Given the description of an element on the screen output the (x, y) to click on. 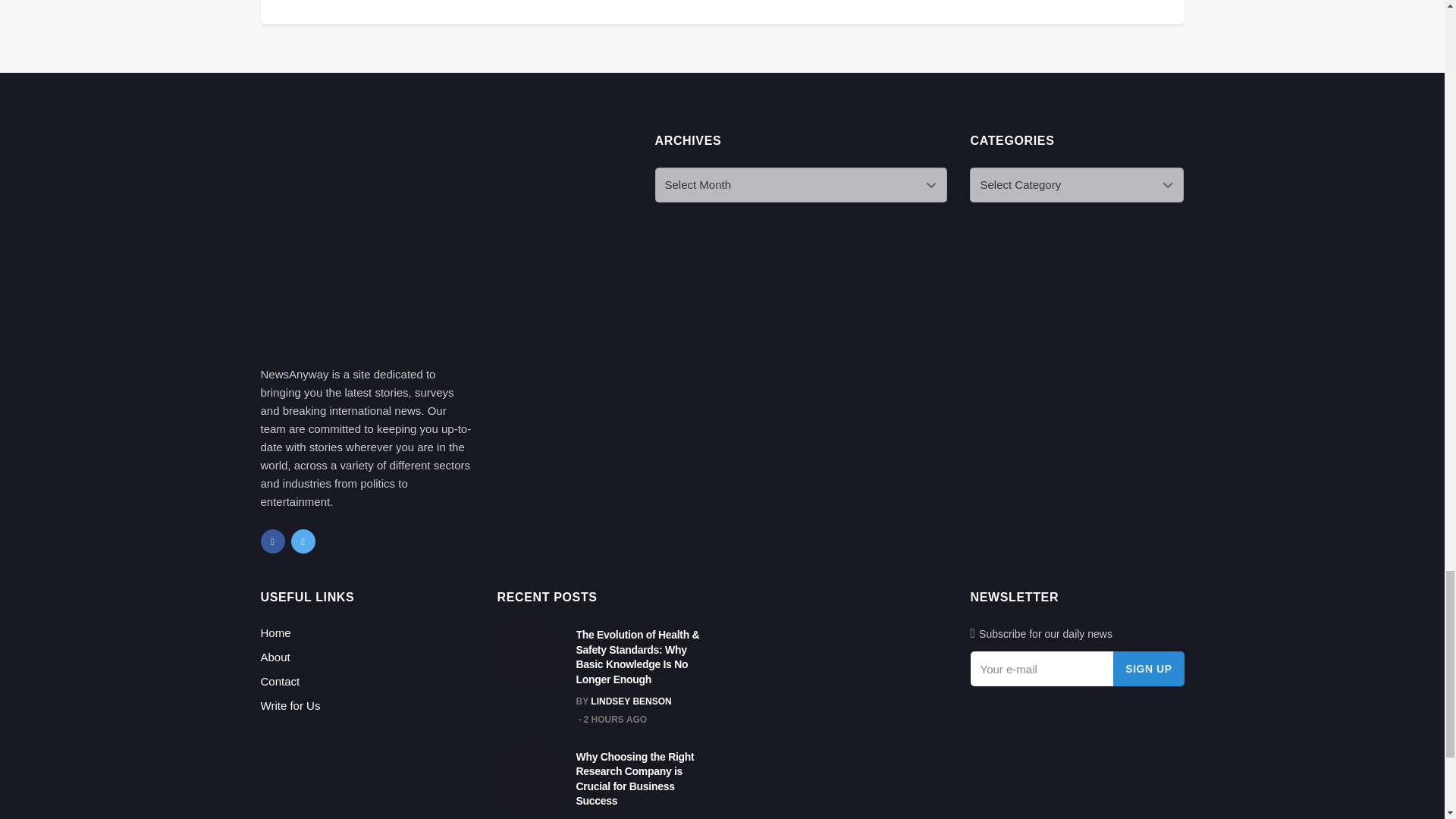
Sign Up (1148, 668)
